Given the description of an element on the screen output the (x, y) to click on. 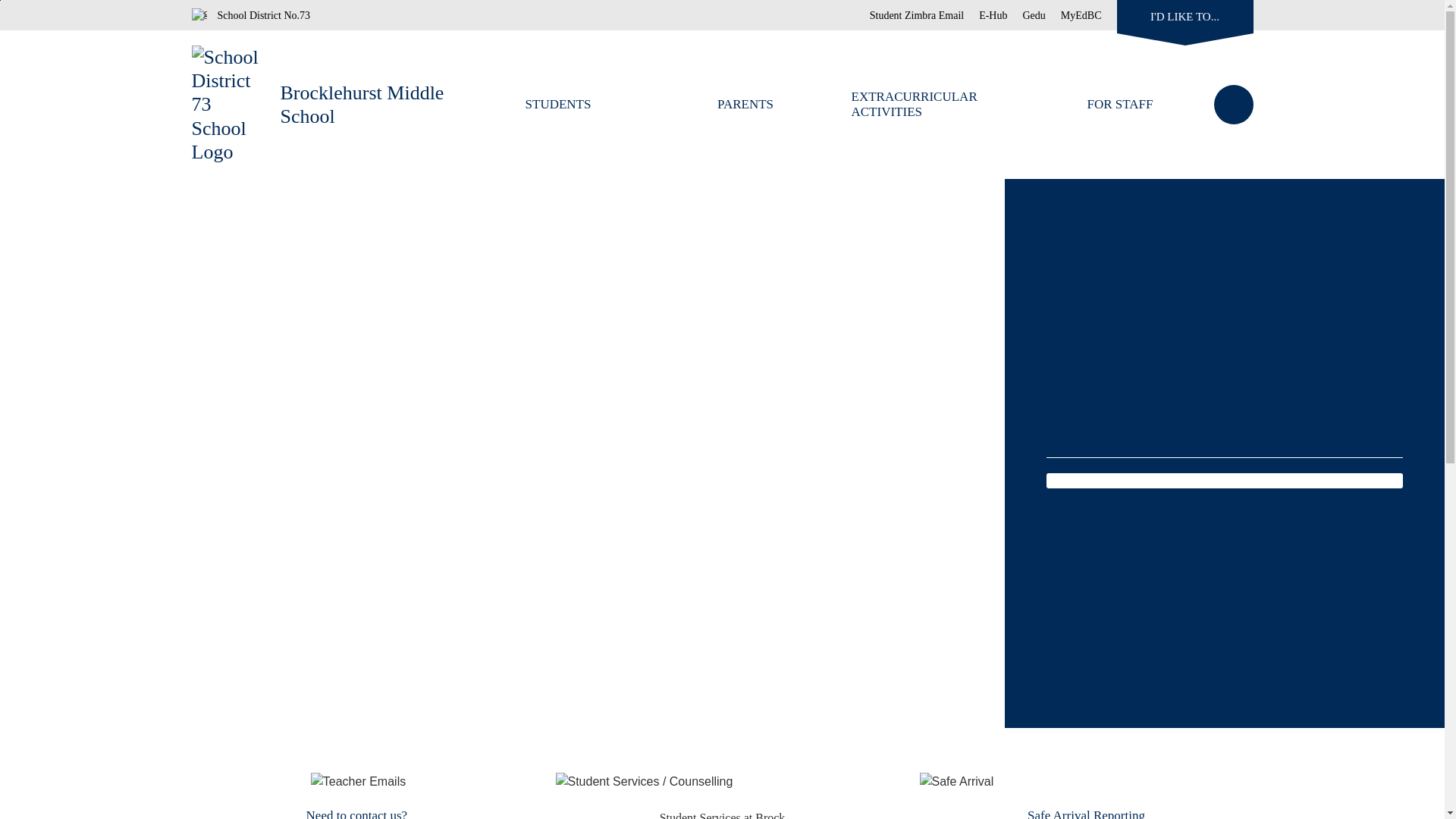
Connecting with your teacher Element type: hover (357, 781)
Skip to Content Element type: text (0, 0)
I'D LIKE TO... Element type: text (1184, 15)
MyEdBC Element type: text (1073, 15)
EXTRACURRICULAR ACTIVITIES Element type: text (932, 104)
Search Element type: text (1232, 104)
Gedu Element type: text (1025, 15)
FOR STAFF Element type: text (1120, 104)
Brocklehurst Middle
School Element type: text (362, 104)
Click to return to the homepage Element type: hover (235, 104)
STUDENTS Element type: text (557, 104)
E-Hub Element type: text (985, 15)
Safe Arrival Reporting Element type: hover (956, 781)
Student Services / Counselling / Enrollment Element type: hover (643, 781)
PARENTS Element type: text (745, 104)
School District No.73 Element type: text (250, 15)
Student Zimbra Email Element type: text (916, 15)
